Given the description of an element on the screen output the (x, y) to click on. 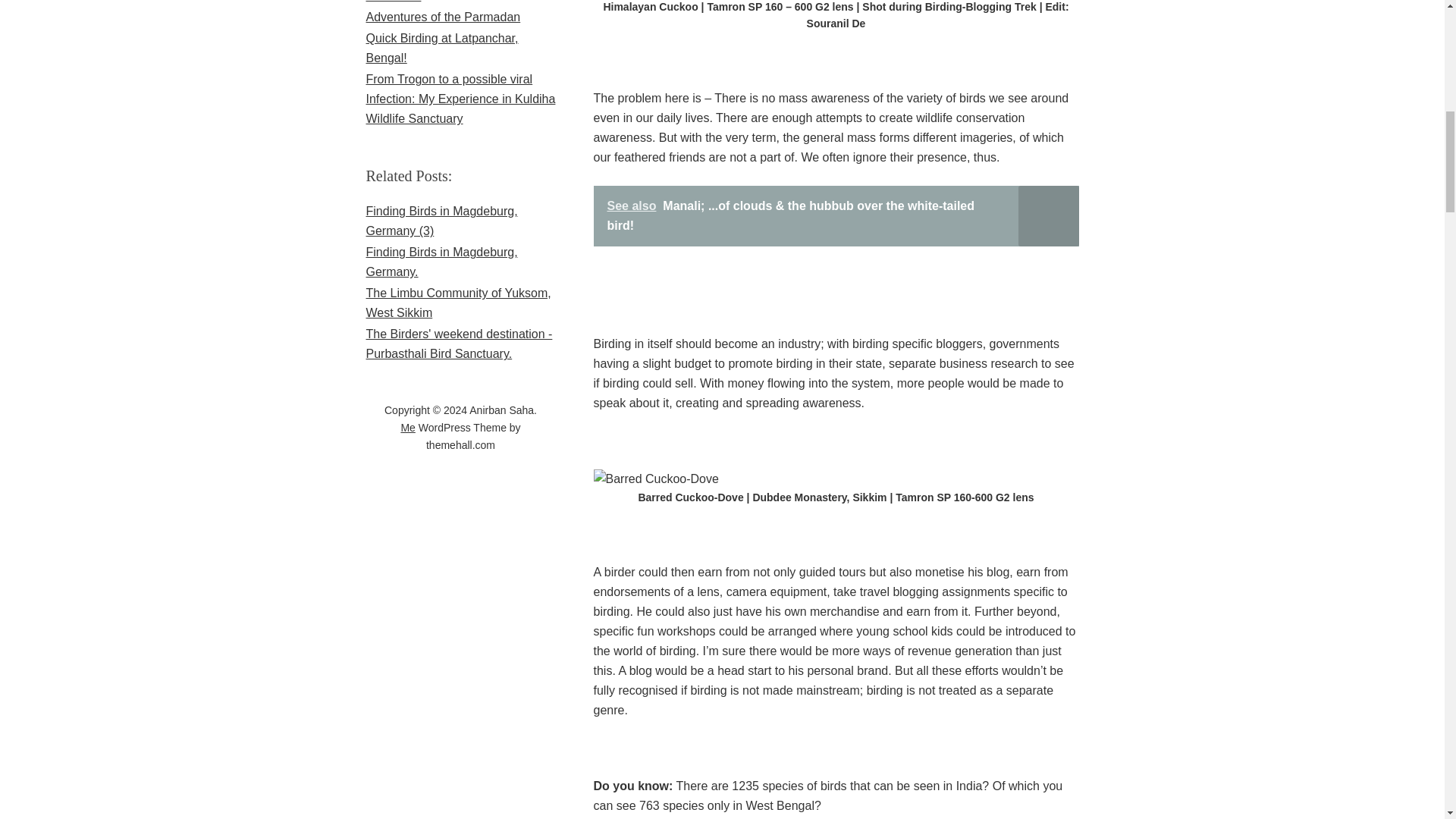
Me WordPress Theme (407, 427)
